Given the description of an element on the screen output the (x, y) to click on. 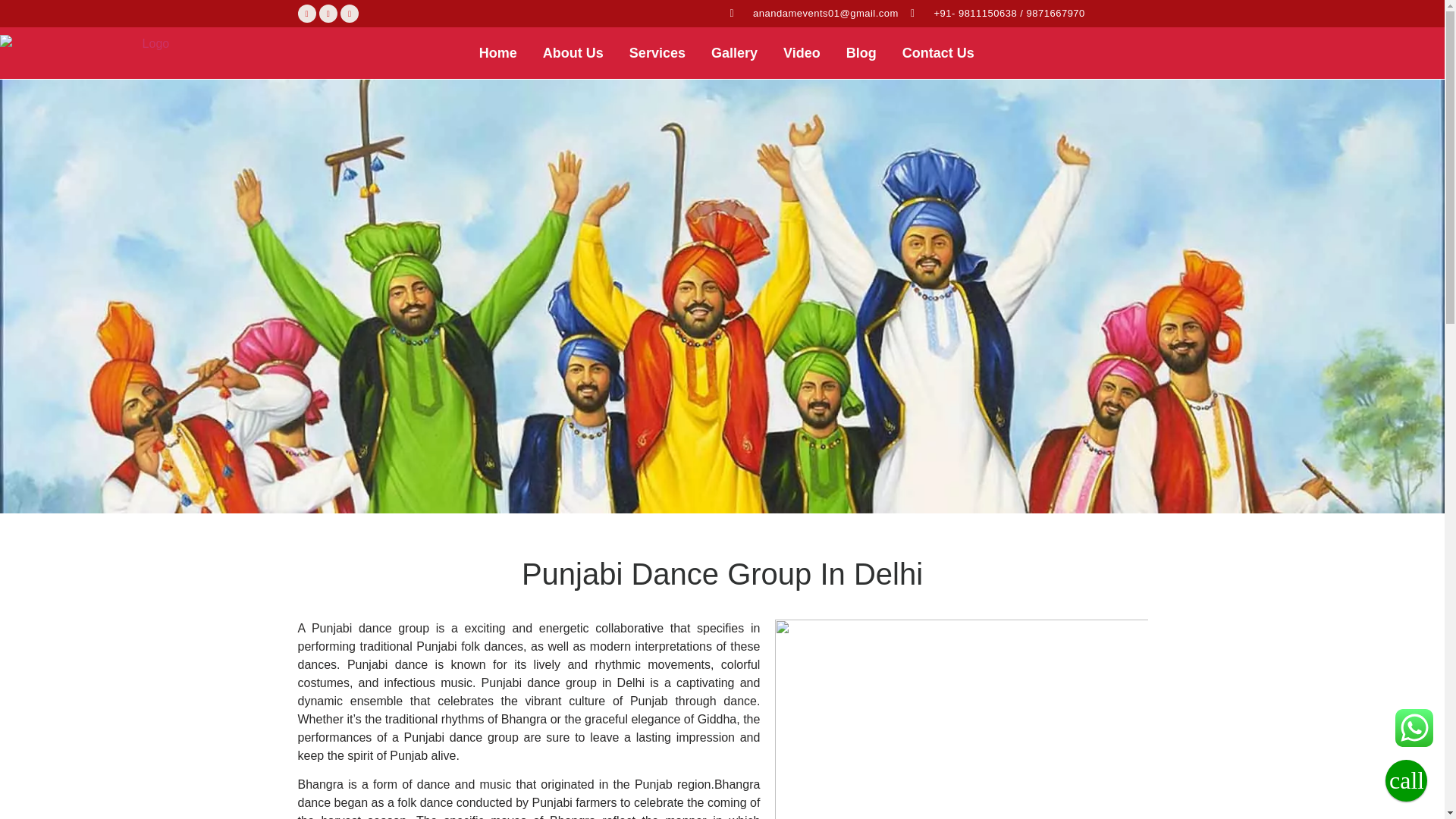
About Us (572, 53)
Video (801, 53)
Services (656, 53)
Gallery (734, 53)
Contact Us (938, 53)
Blog (860, 53)
Home (497, 53)
call (1406, 780)
